Given the description of an element on the screen output the (x, y) to click on. 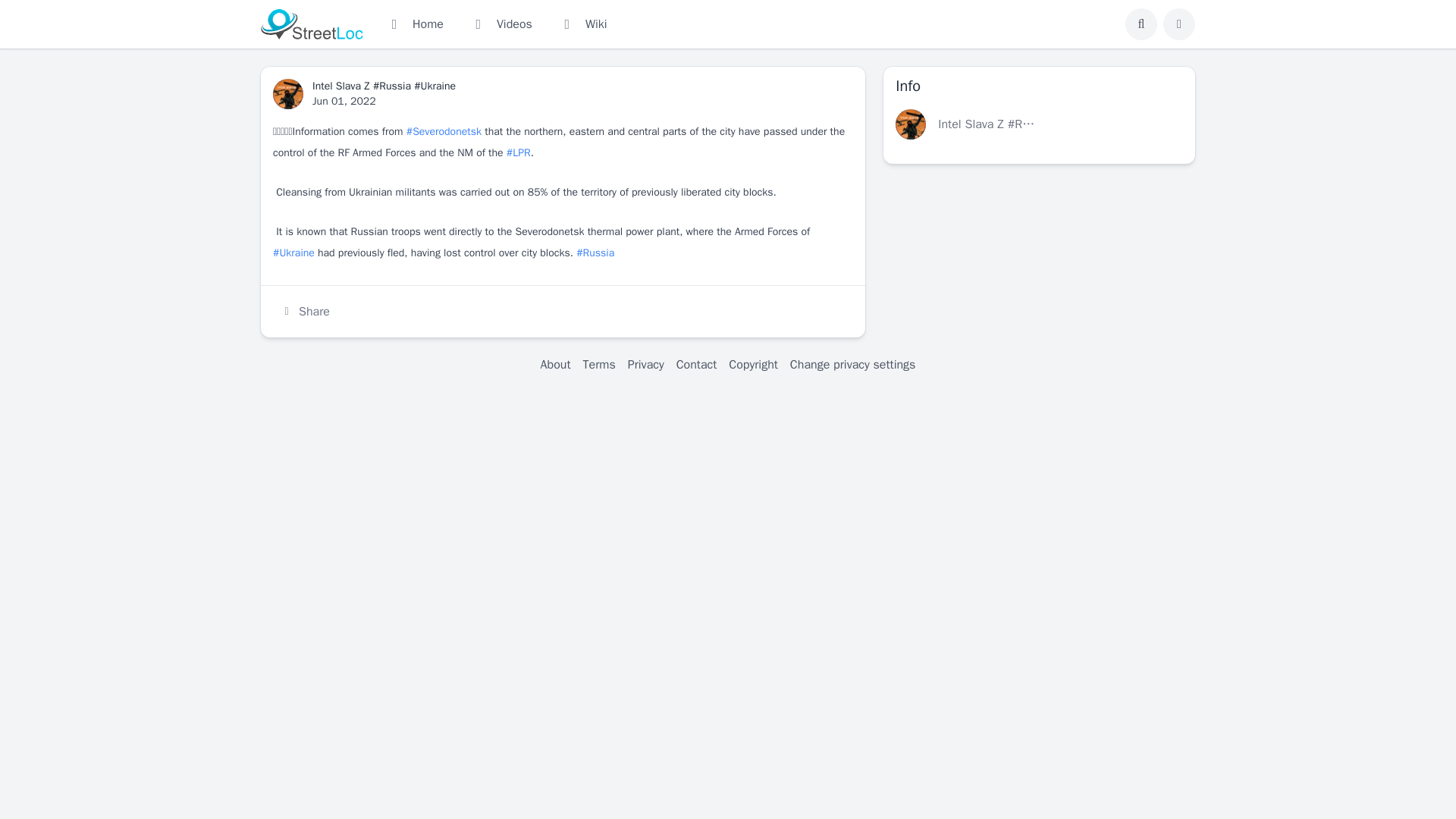
Wiki (582, 24)
Jun 01, 2022 (344, 101)
Home (413, 24)
Videos (500, 24)
Share (304, 311)
Log In (1178, 24)
StreetLoc (311, 24)
Share (304, 311)
